Given the description of an element on the screen output the (x, y) to click on. 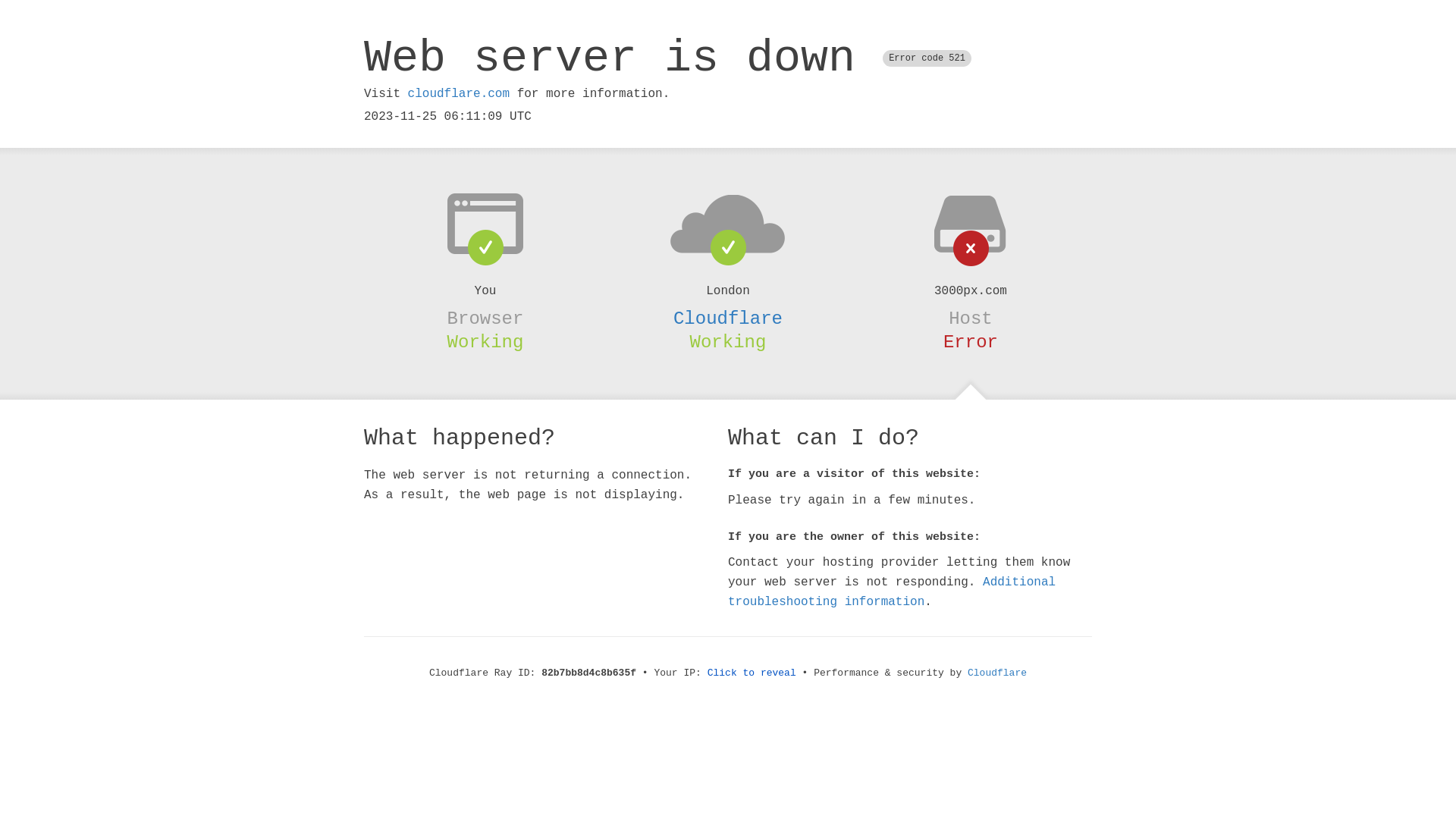
Cloudflare Element type: text (996, 672)
Cloudflare Element type: text (727, 318)
Additional troubleshooting information Element type: text (891, 591)
cloudflare.com Element type: text (458, 93)
Click to reveal Element type: text (751, 672)
